Given the description of an element on the screen output the (x, y) to click on. 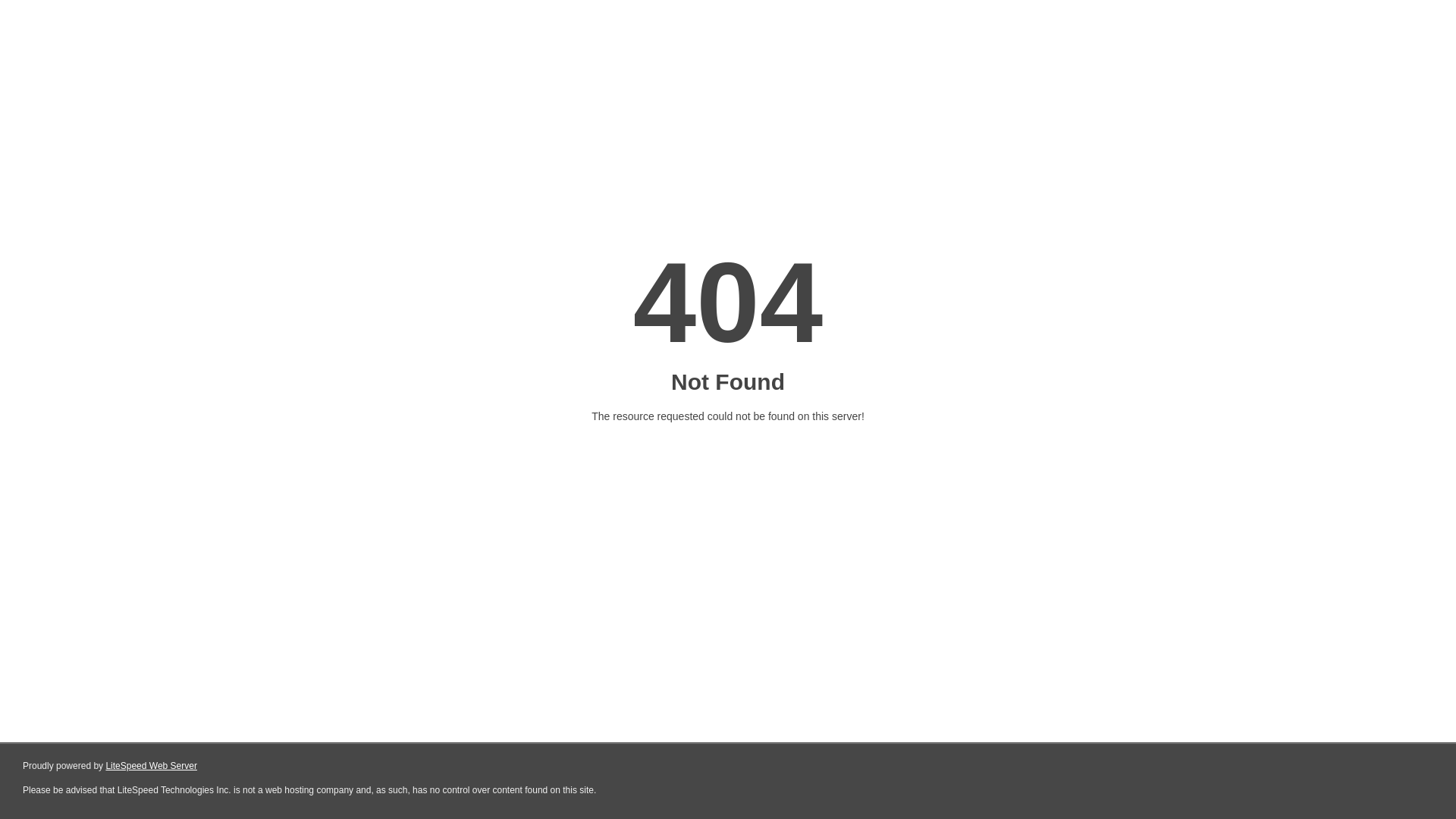
LiteSpeed Web Server Element type: text (151, 765)
